Given the description of an element on the screen output the (x, y) to click on. 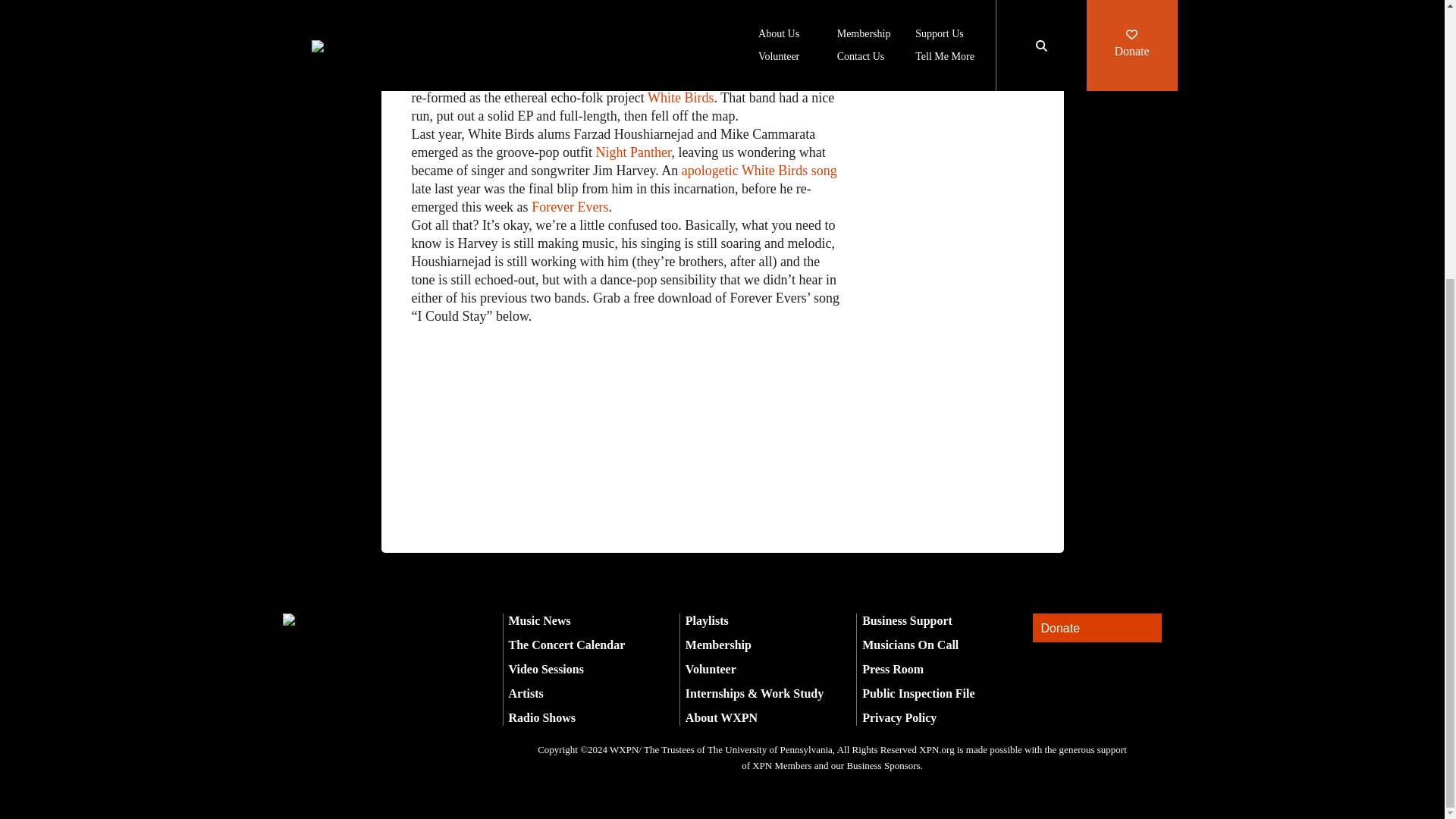
Membership (718, 644)
Business Support (906, 620)
White Birds (680, 97)
Drink Up Buttercup (785, 61)
Press Room (892, 668)
Night Panther (633, 151)
Music News (539, 620)
Radio Shows (541, 717)
Public Inspection File (917, 693)
Forever Evers (569, 206)
